Given the description of an element on the screen output the (x, y) to click on. 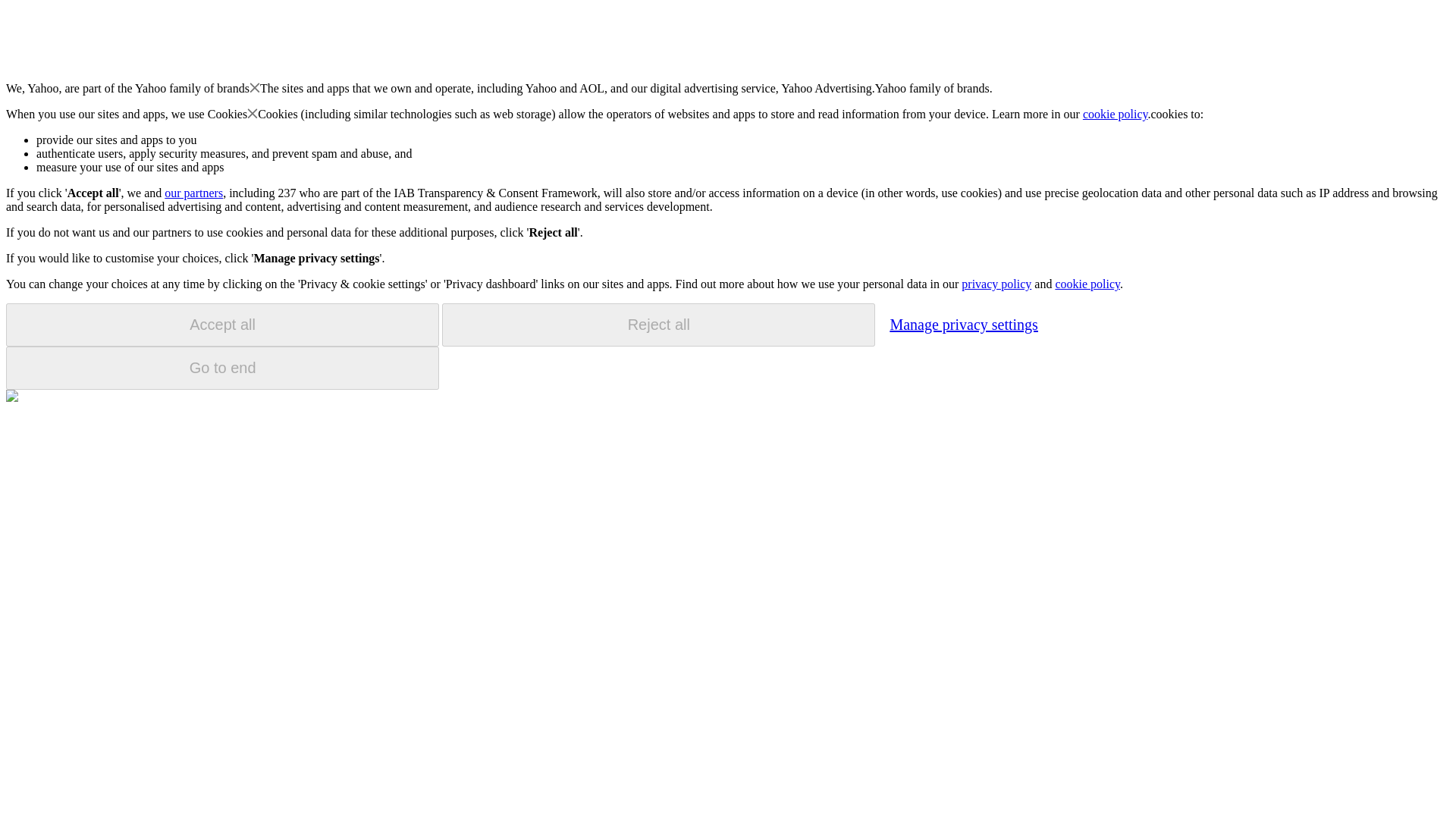
Go to end (222, 367)
privacy policy (995, 283)
Manage privacy settings (963, 323)
Accept all (222, 324)
our partners (193, 192)
cookie policy (1086, 283)
Reject all (658, 324)
cookie policy (1115, 113)
